Given the description of an element on the screen output the (x, y) to click on. 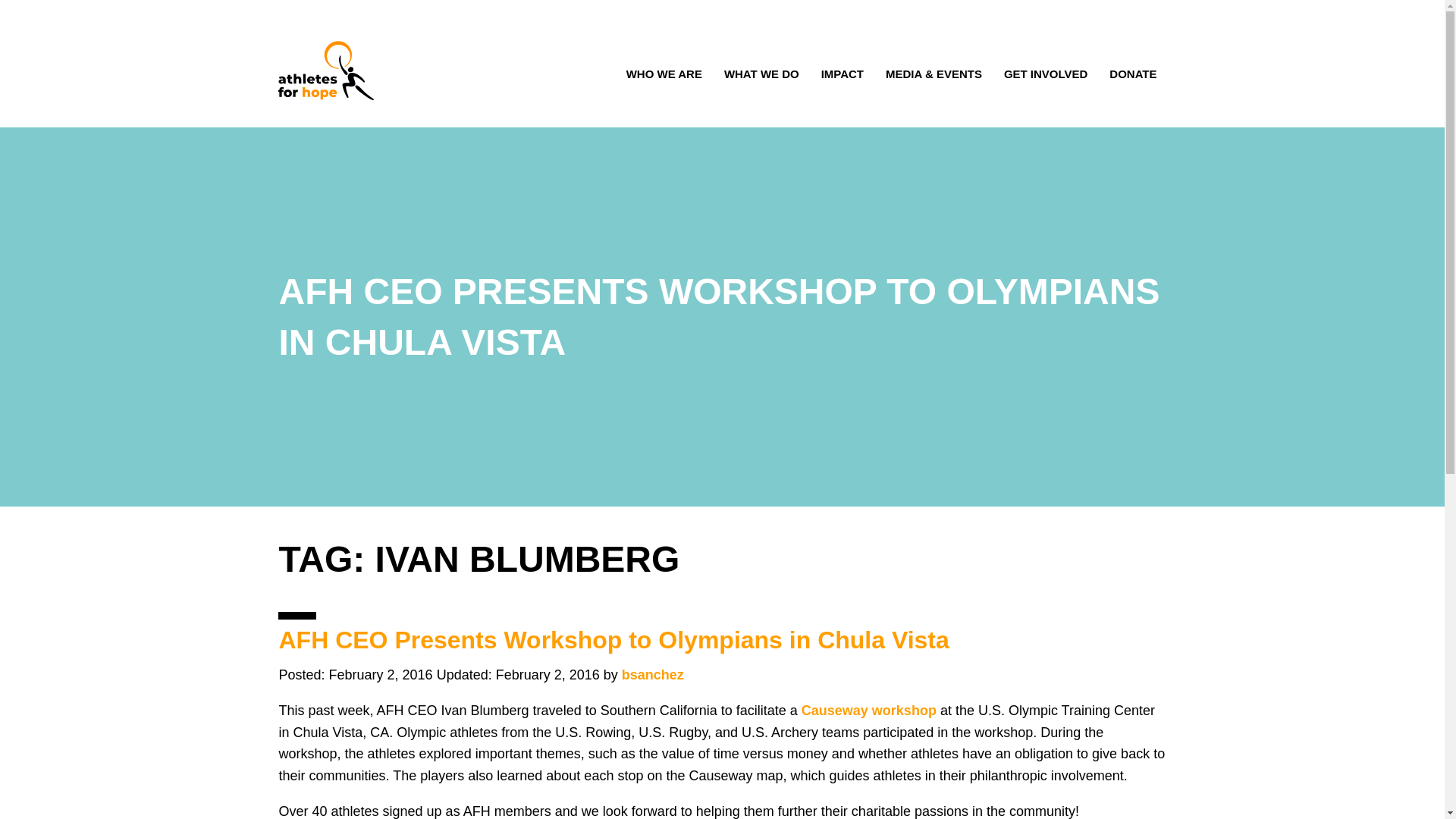
Athletes for Hope (326, 69)
WHO WE ARE (664, 75)
IMPACT (842, 75)
WHAT WE DO (761, 75)
GET INVOLVED (1045, 75)
